Given the description of an element on the screen output the (x, y) to click on. 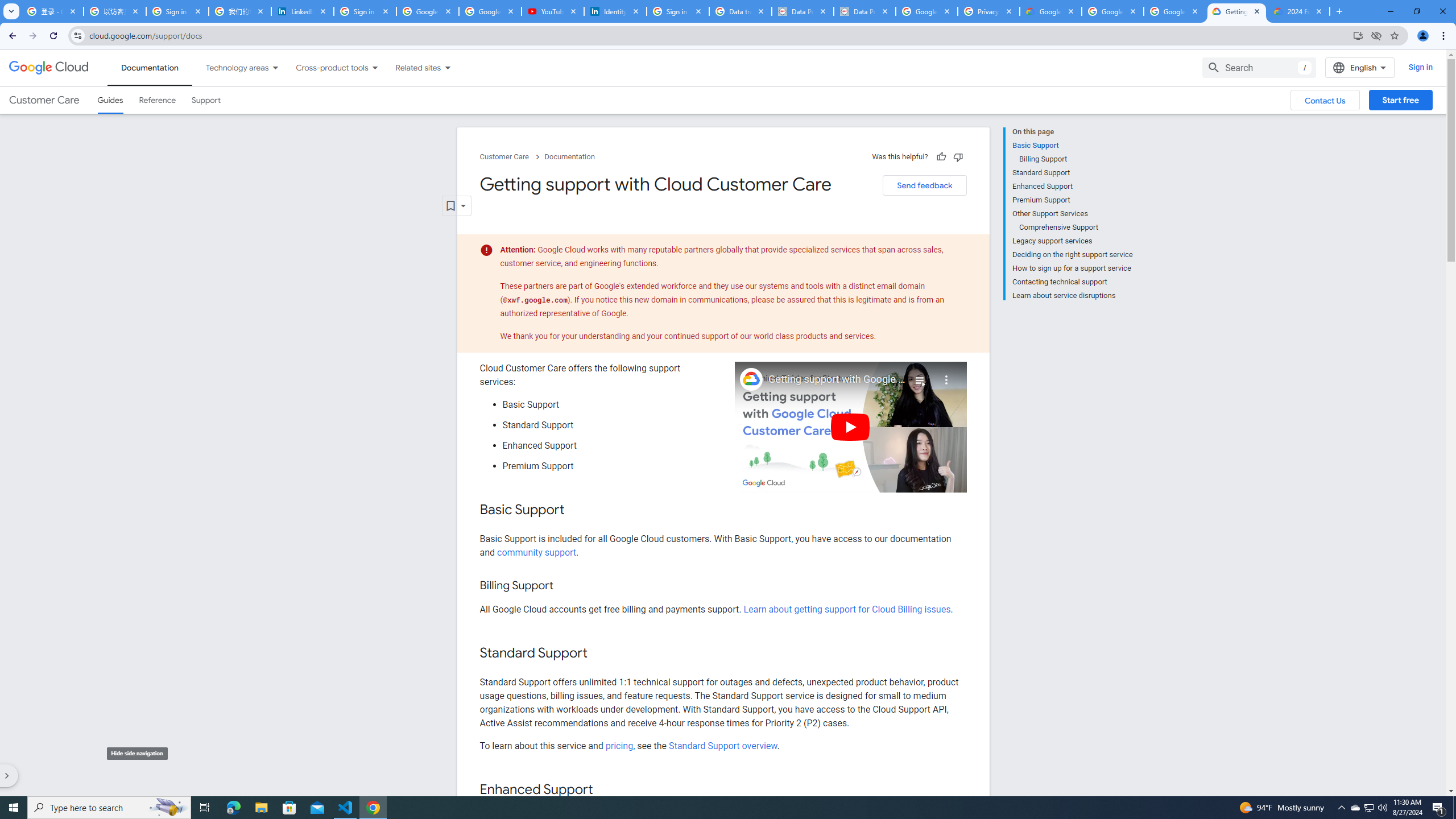
Standard Support (1071, 172)
Dropdown menu for Cross-product tools (374, 67)
Documentation (569, 156)
Start free (1400, 100)
Sign in - Google Accounts (177, 11)
Contact Us (1324, 100)
pricing (619, 745)
Data Privacy Framework (864, 11)
English (1359, 67)
